Given the description of an element on the screen output the (x, y) to click on. 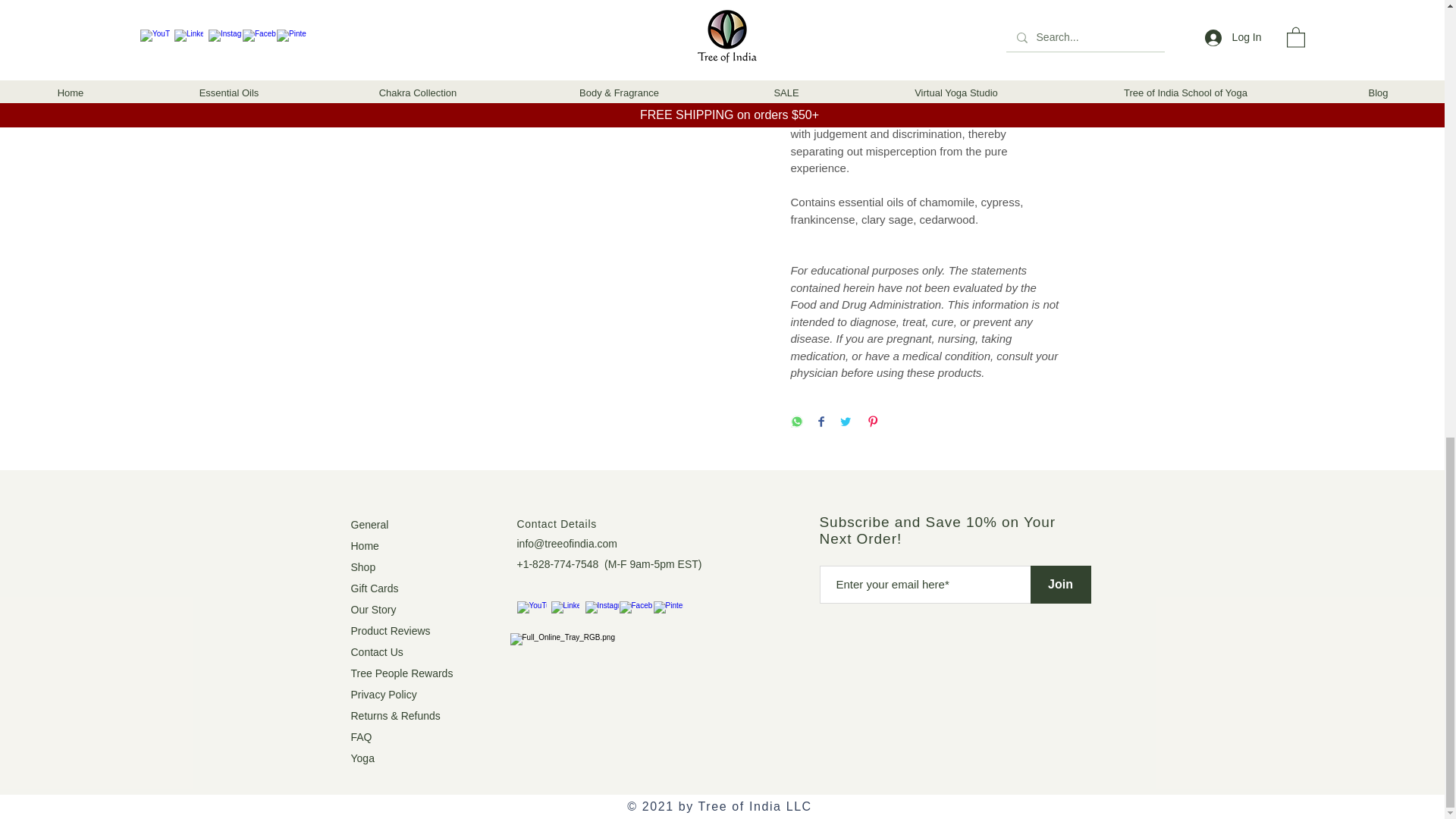
Shop (362, 567)
Product Reviews (389, 630)
Tree People Rewards (401, 673)
Privacy Policy (383, 694)
Our Story (373, 609)
Home (364, 545)
Contact Us (376, 652)
Gift Cards (373, 588)
